Given the description of an element on the screen output the (x, y) to click on. 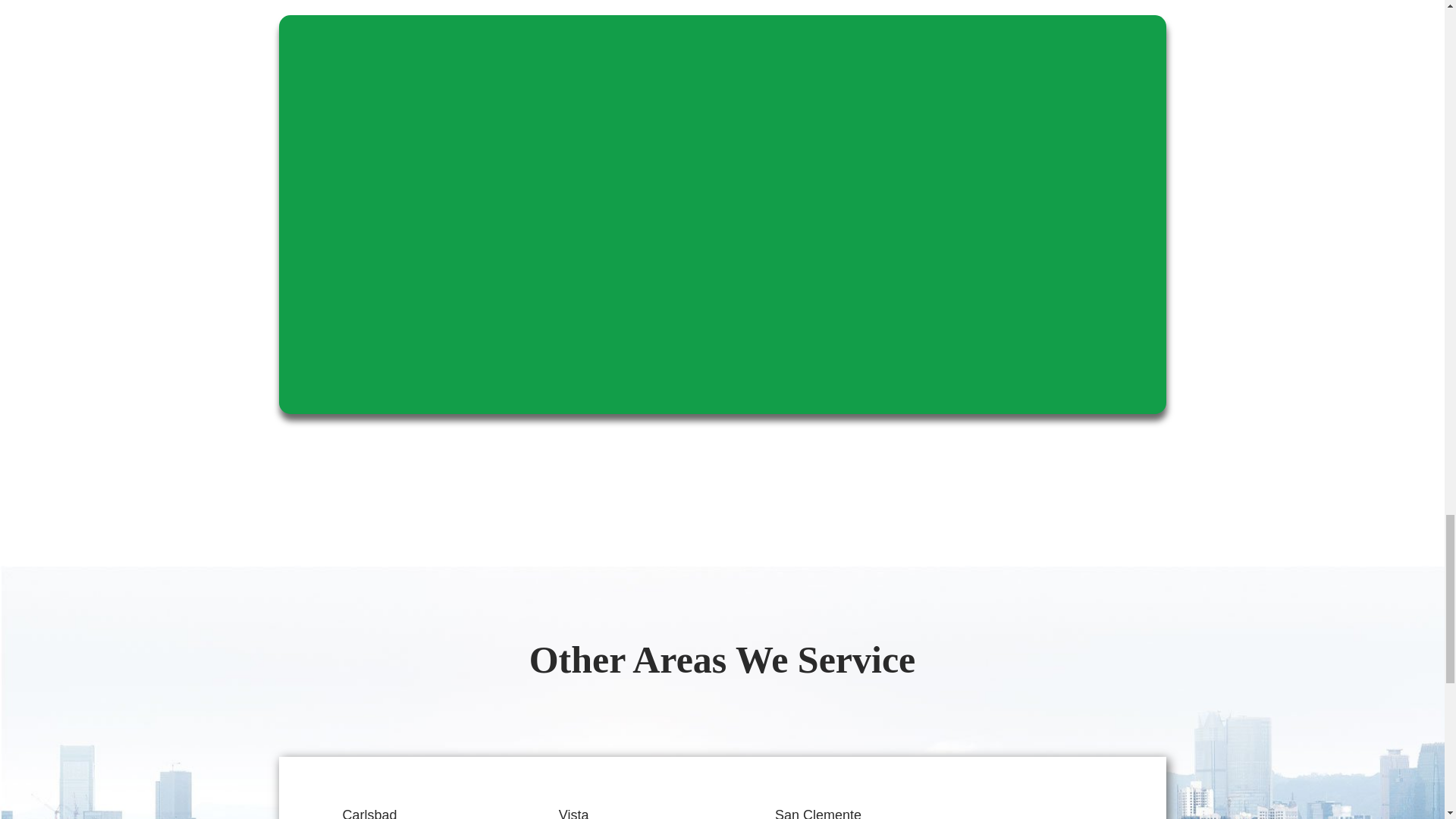
San Clemente (817, 813)
Vista (574, 813)
Carlsbad (369, 813)
